Given the description of an element on the screen output the (x, y) to click on. 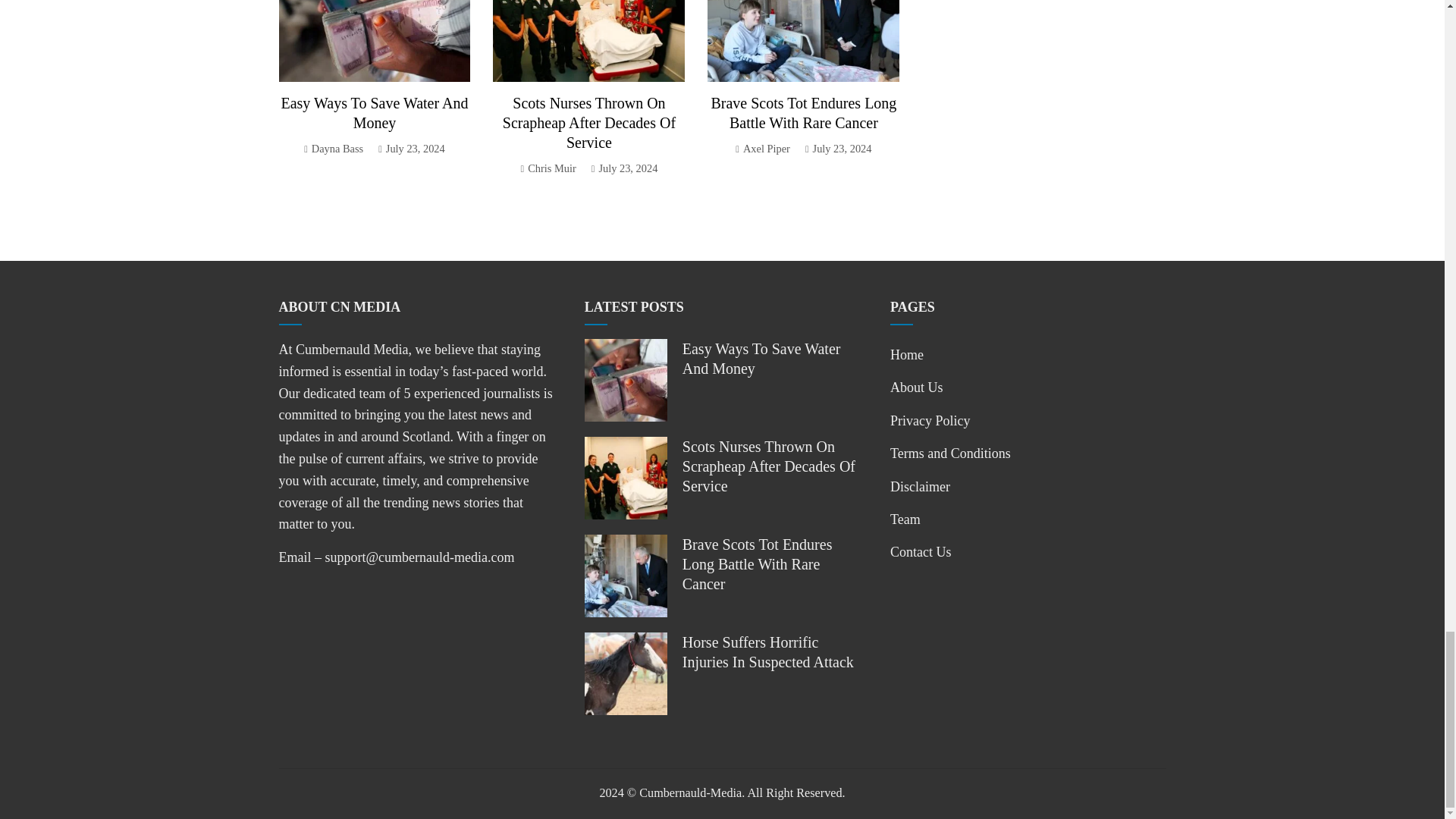
Scots Nurses Thrown on Scrapheap After Decades of Service (588, 122)
Easy Ways To Save Water And Money (374, 113)
Brave Scots Tot Endures Long Battle with Rare Cancer (803, 113)
Easy Ways to Save Water and Money (374, 113)
